Given the description of an element on the screen output the (x, y) to click on. 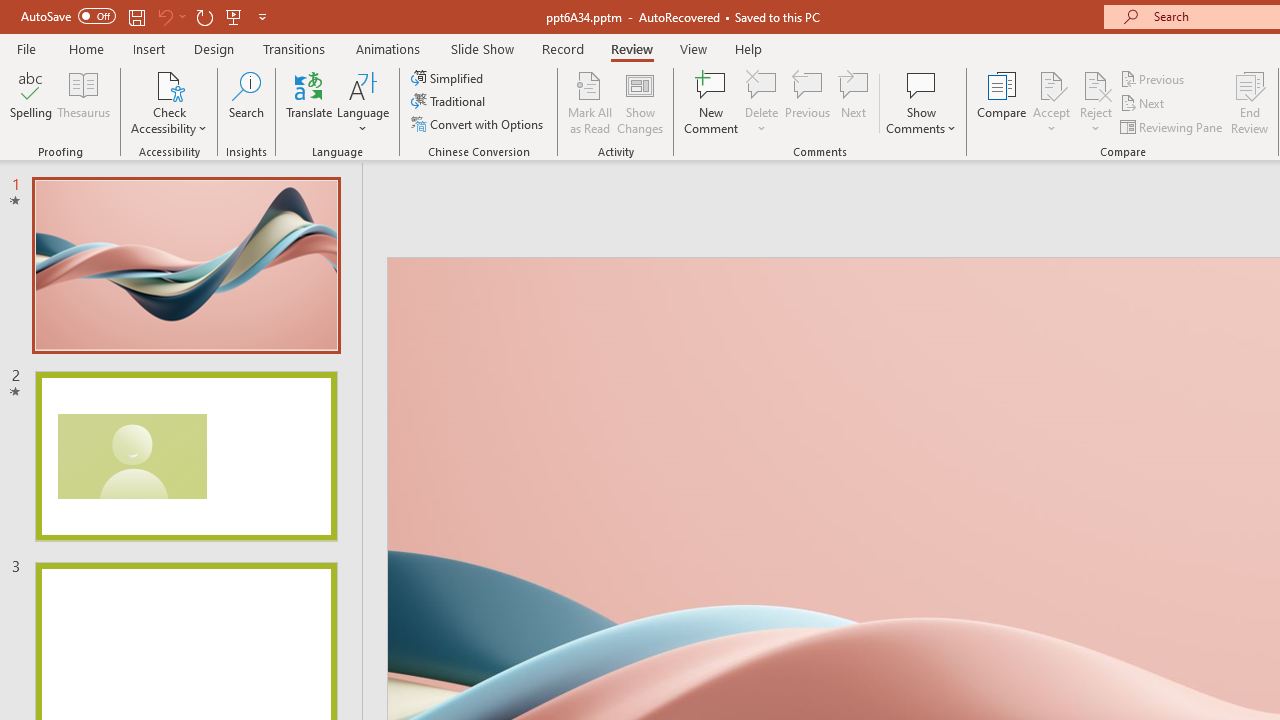
Reviewing Pane (1172, 126)
New Comment (711, 102)
Accept (1051, 102)
Traditional (449, 101)
Language (363, 102)
